Given the description of an element on the screen output the (x, y) to click on. 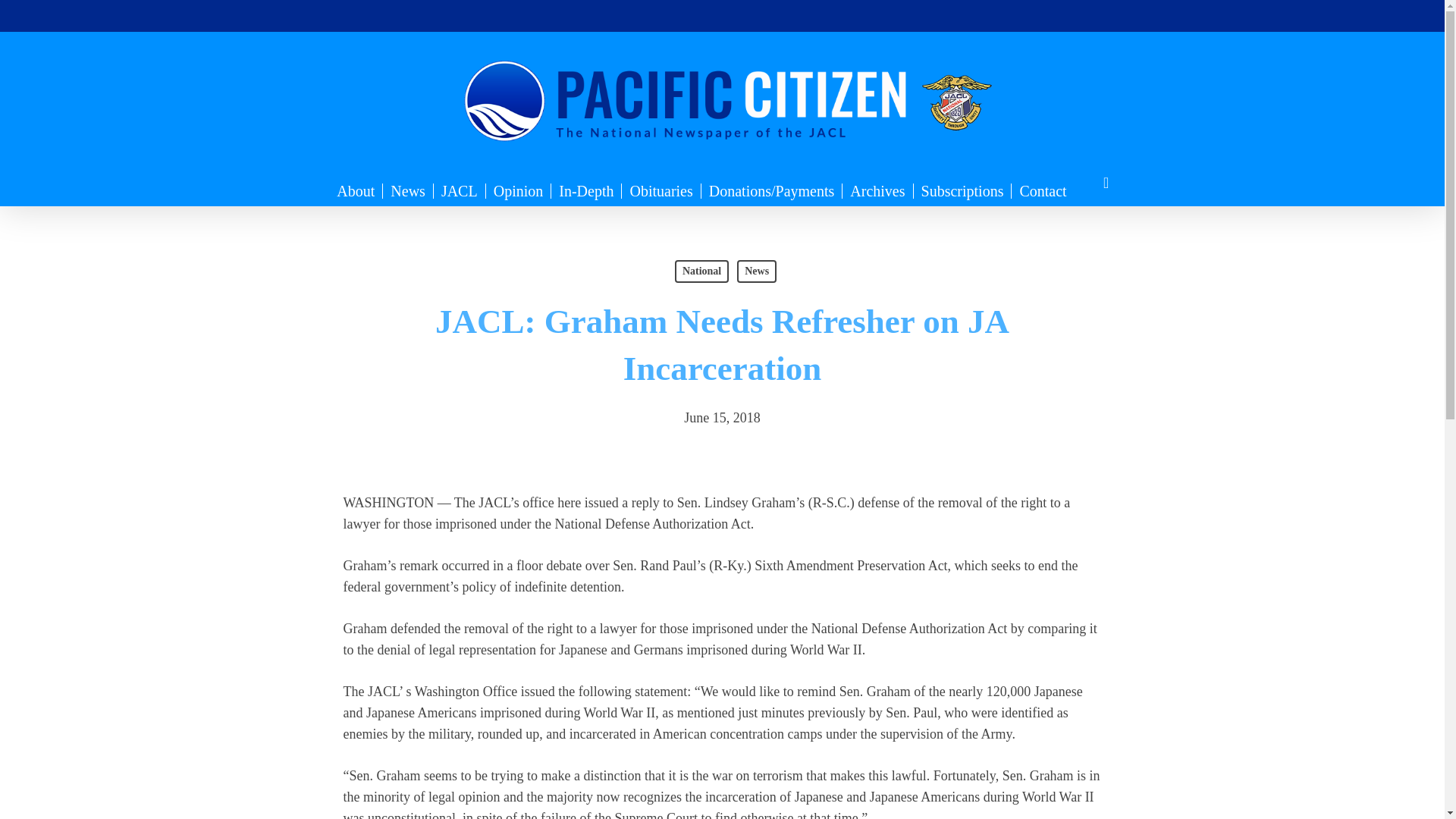
Obituaries (660, 191)
In-Depth (586, 191)
search (1106, 182)
Contact (1042, 191)
Archives (877, 191)
Subscriptions (962, 191)
JACL (459, 191)
About (355, 191)
Opinion (518, 191)
News (407, 191)
